Given the description of an element on the screen output the (x, y) to click on. 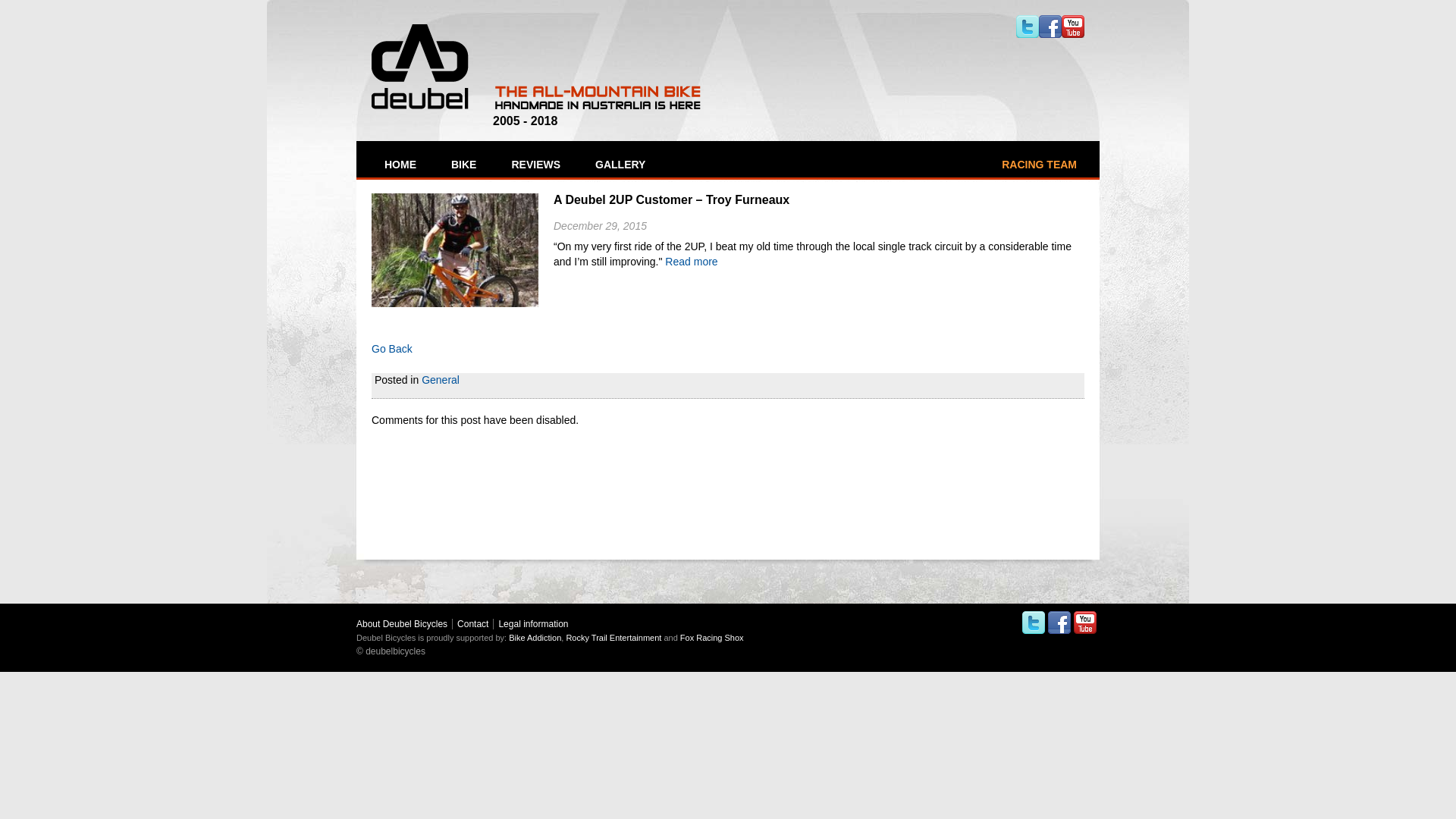
Bike Addiction Element type: text (534, 637)
Contact Element type: text (472, 623)
General Element type: text (440, 379)
Twitter Element type: text (1033, 622)
YouTube Element type: text (1072, 26)
Legal information Element type: text (532, 623)
REVIEWS Element type: text (534, 164)
About Deubel Bicycles Element type: text (401, 623)
YouTube Element type: text (1084, 622)
Fox Racing Shox Element type: text (711, 637)
Go Back Element type: text (391, 348)
GALLERY Element type: text (618, 164)
Rocky Trail Entertainment Element type: text (613, 637)
RACING TEAM Element type: text (1038, 164)
BIKE Element type: text (462, 164)
Twitter Element type: text (1027, 26)
HOME Element type: text (398, 164)
Read more Element type: text (691, 261)
Facebook Element type: text (1049, 26)
Facebook Element type: text (1059, 622)
